Given the description of an element on the screen output the (x, y) to click on. 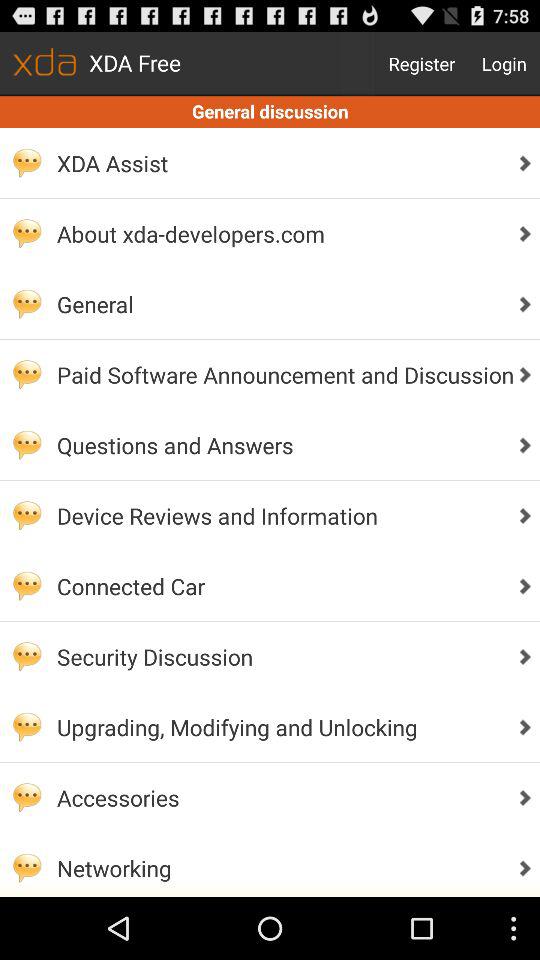
scroll until the general discussion item (270, 111)
